Given the description of an element on the screen output the (x, y) to click on. 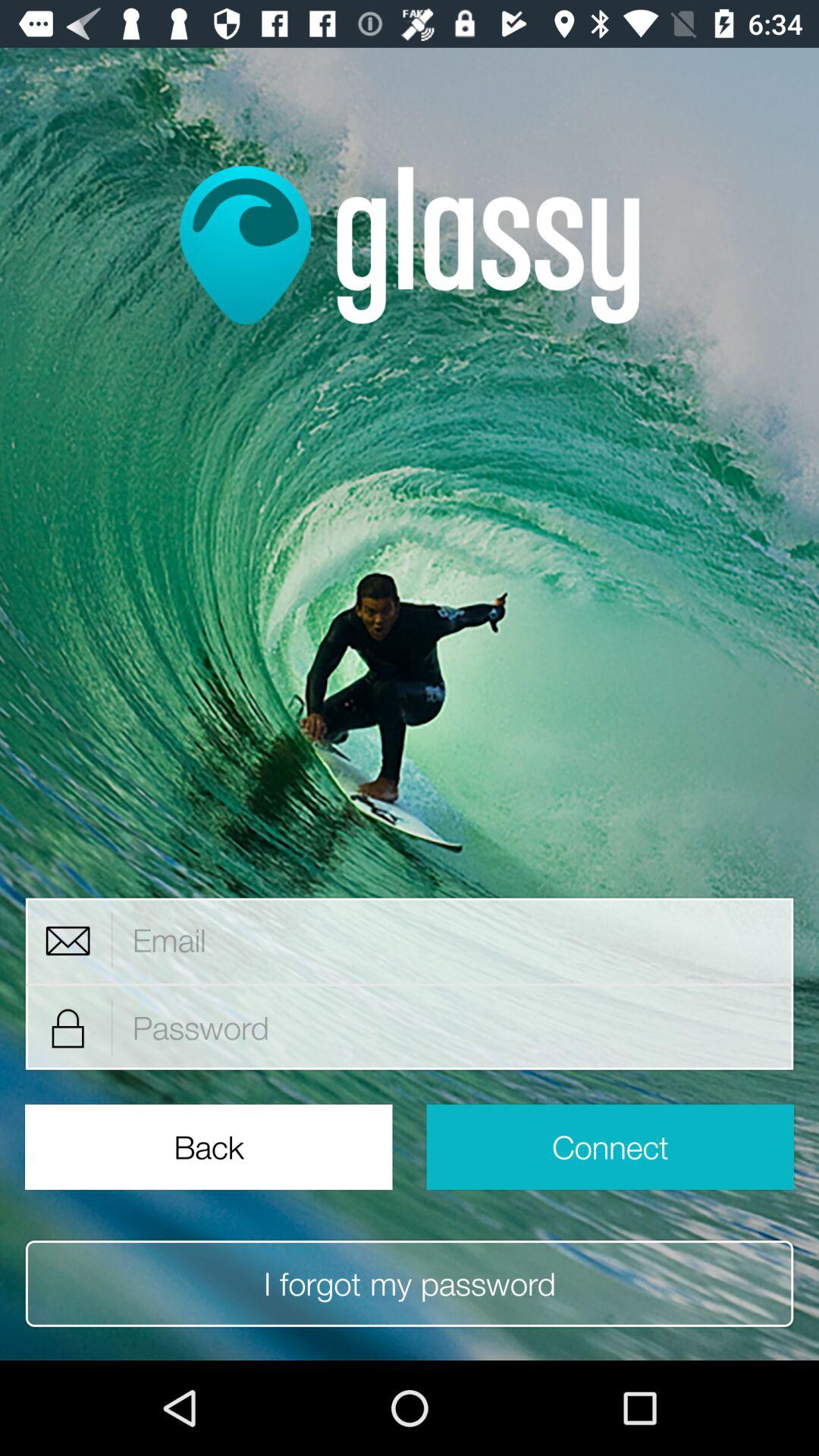
text box to enter your password (453, 1027)
